Given the description of an element on the screen output the (x, y) to click on. 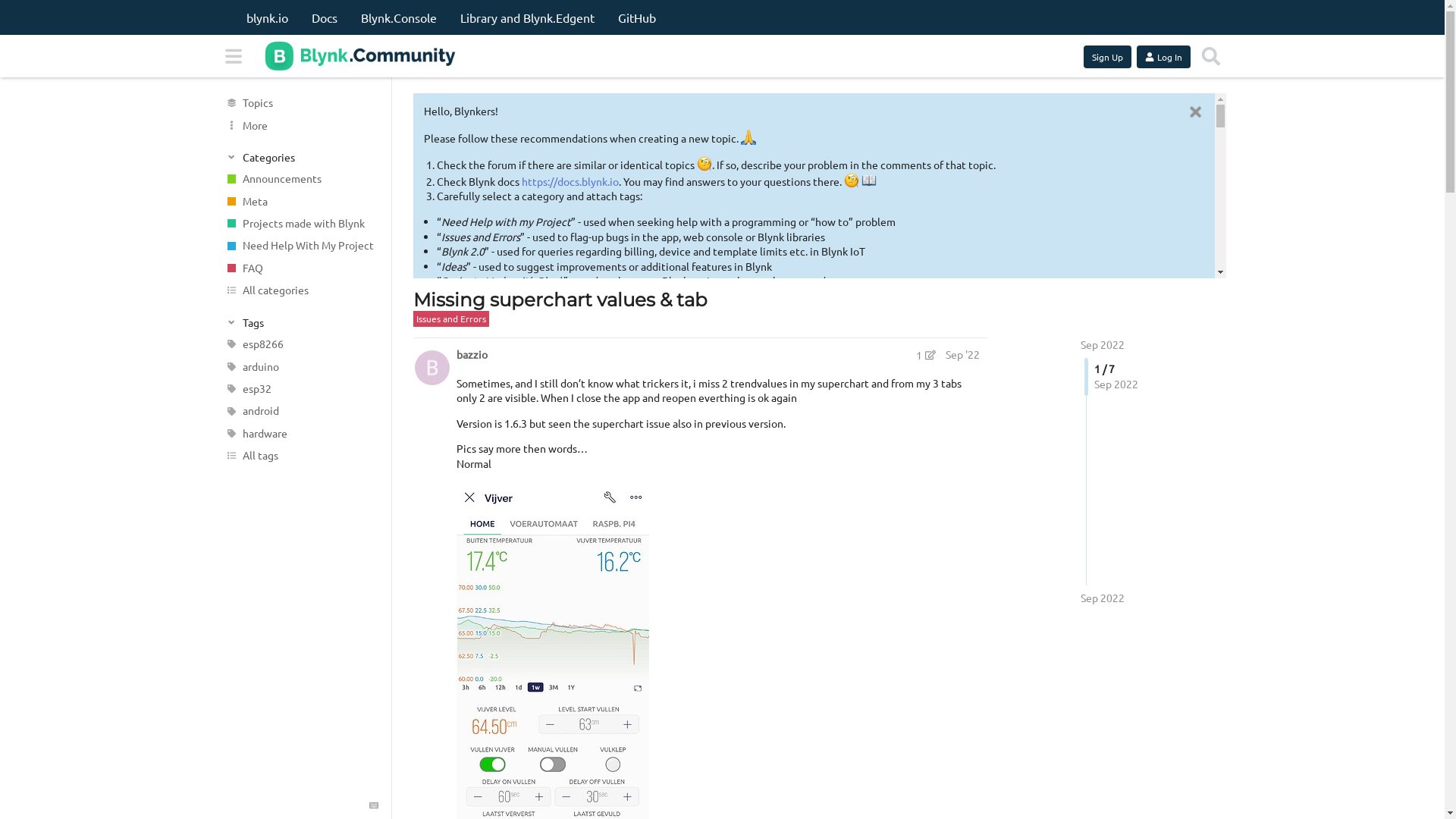
Tags Element type: text (300, 321)
:face_with_monocle: Element type: hover (704, 163)
Library and Blynk.Edgent Element type: text (526, 17)
All tags Element type: text (300, 455)
Projects made with Blynk Element type: text (300, 223)
Topics Element type: text (300, 102)
Categories Element type: text (300, 156)
New Blynk Library Release v1.2.0 Element type: text (753, 423)
android Element type: text (300, 410)
Dismiss this banner Element type: hover (1195, 111)
https://docs.blynk.io/en/blynk.console/limits Element type: text (730, 504)
hardware Element type: text (300, 433)
Docs Element type: text (323, 17)
https://docs.blynk.io Element type: text (569, 181)
Keyboard Shortcuts Element type: hover (373, 805)
:pray: Element type: hover (747, 136)
esp32 Element type: text (300, 388)
Hide sidebar Element type: hover (232, 55)
FAQ Element type: text (300, 268)
:face_with_monocle: Element type: hover (851, 180)
:pager: Element type: hover (611, 365)
Issues and Errors Element type: text (450, 318)
Log In Element type: text (1162, 56)
1 Element type: text (925, 354)
All categories Element type: text (300, 290)
Sign Up Element type: text (1107, 56)
:open_book: Element type: hover (478, 382)
GitHub Element type: text (636, 17)
esp8266 Element type: text (300, 343)
Missing superchart values & tab Element type: text (559, 299)
Search Element type: hover (1210, 55)
bazzio Element type: text (471, 354)
arduino Element type: text (300, 366)
Blynk.Console Element type: text (398, 17)
Sep '22 Element type: text (961, 353)
https://examples.blynk.cc Element type: text (497, 555)
blynk.io Element type: text (266, 17)
Need Help With My Project Element type: text (300, 245)
:open_book: Element type: hover (868, 180)
:iphone: Element type: hover (605, 655)
Meta Element type: text (300, 201)
More Element type: text (300, 124)
Announcements Element type: text (300, 178)
Sep 2022 Element type: text (1101, 597)
Sep 2022 Element type: text (1101, 344)
